Given the description of an element on the screen output the (x, y) to click on. 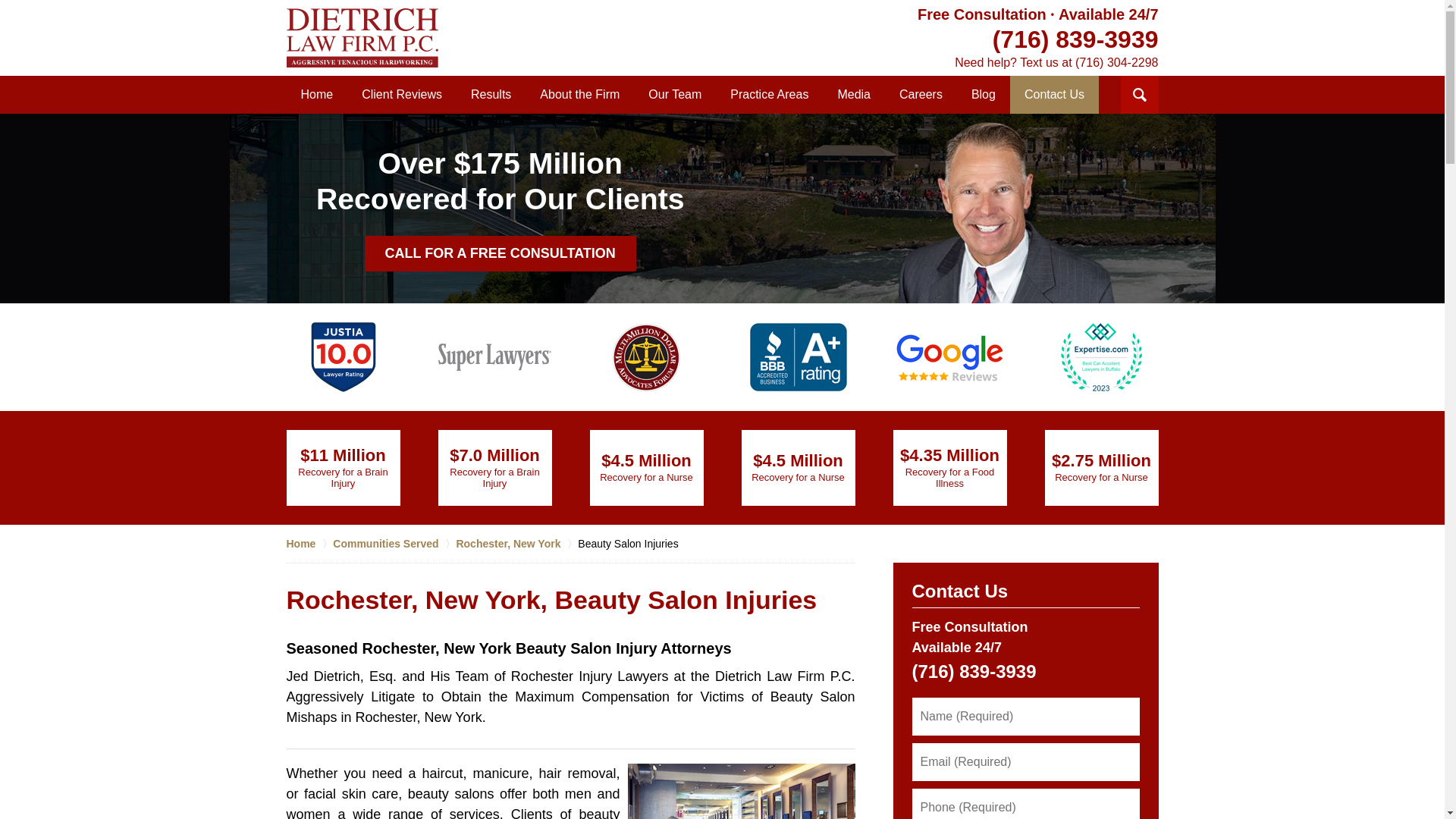
About the Firm (579, 94)
Practice Areas (769, 94)
Blog (983, 94)
Back to Home (362, 37)
Contact Us (1054, 94)
Careers (920, 94)
Home (316, 94)
Our Team (674, 94)
Dietrich Law Firm P.C. Home (362, 37)
Client Reviews (402, 94)
